Given the description of an element on the screen output the (x, y) to click on. 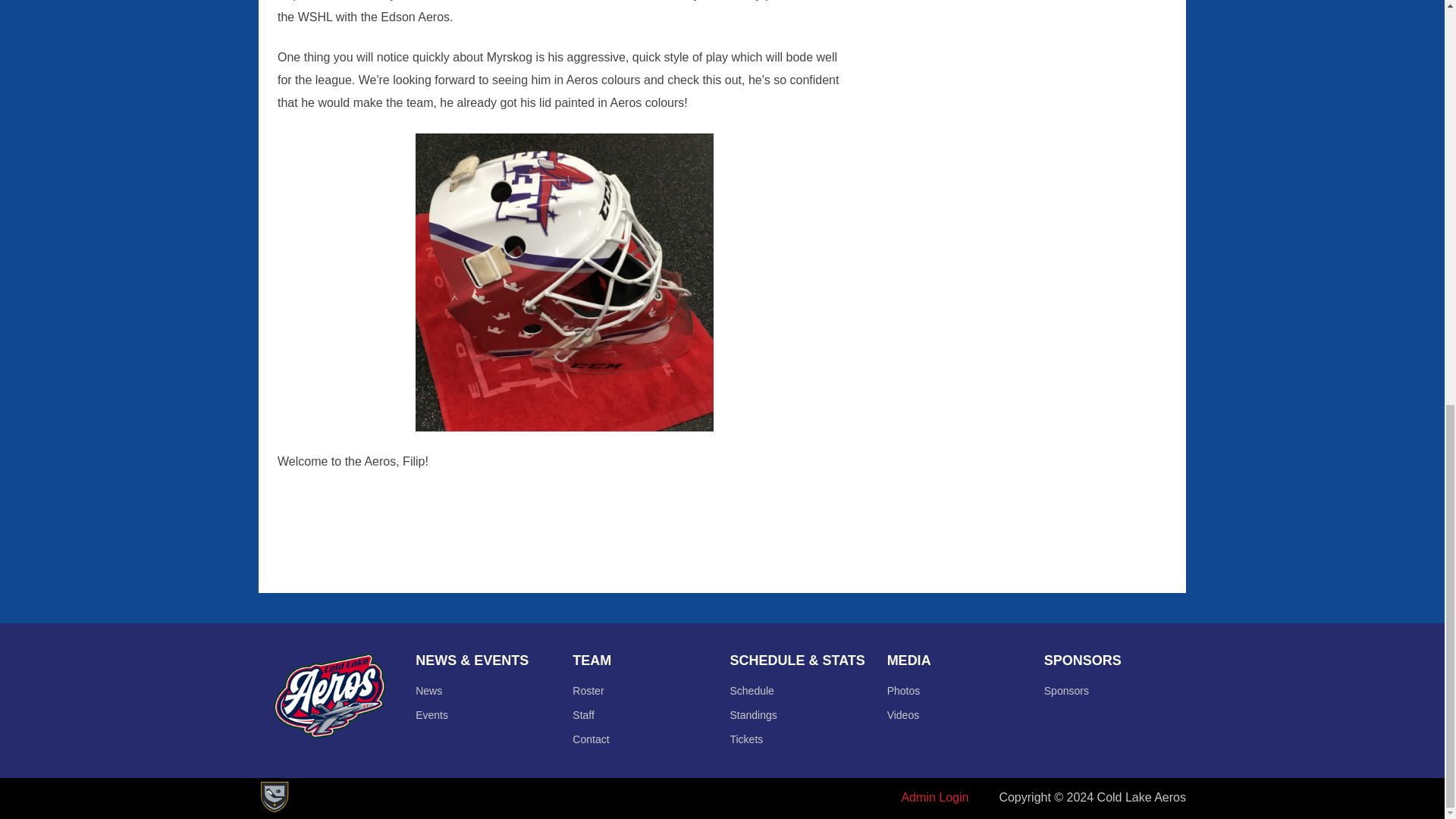
Powered by HockeyShift (273, 797)
Events (431, 715)
News (428, 690)
